Given the description of an element on the screen output the (x, y) to click on. 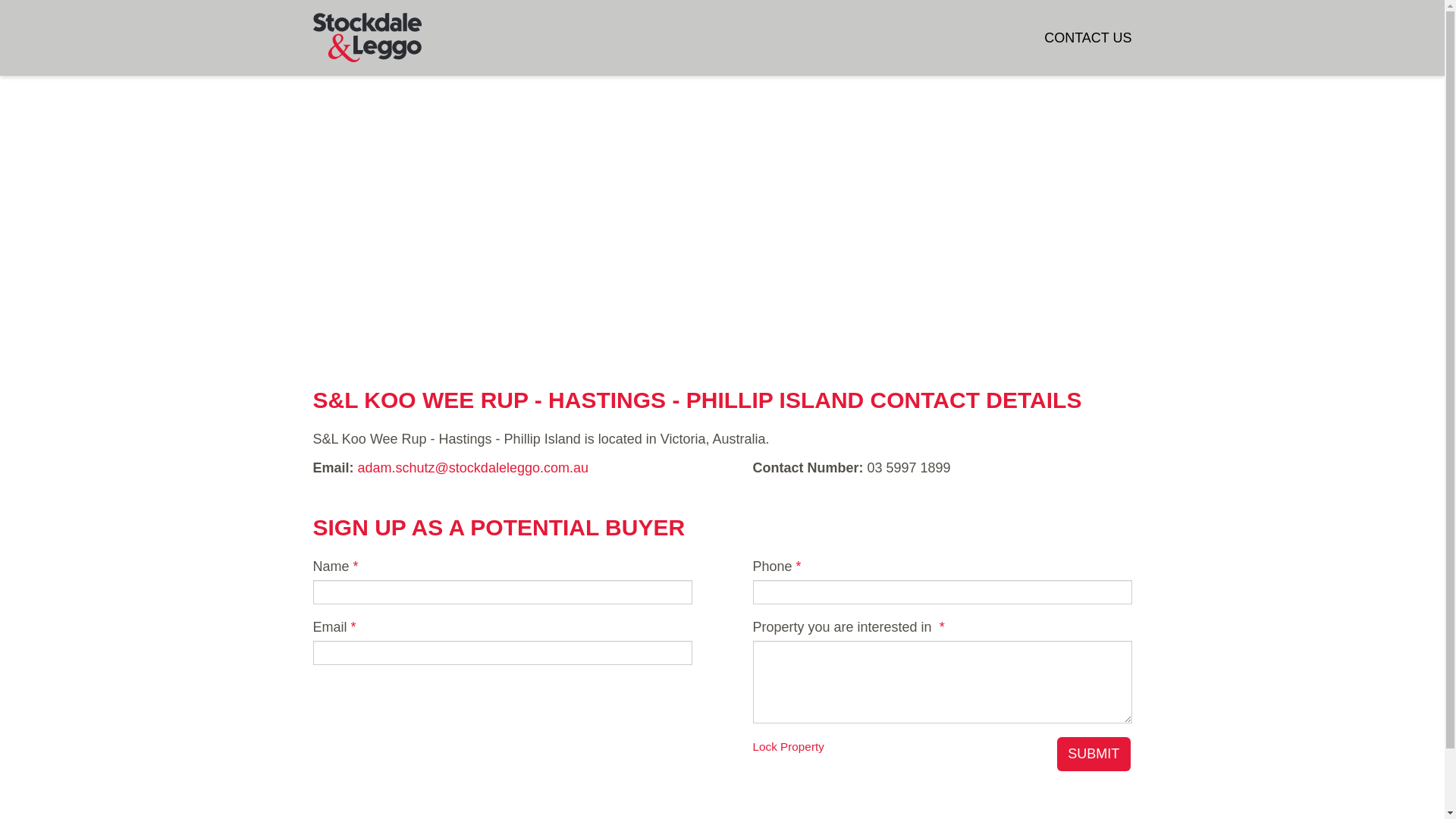
adam.schutz@stockdaleleggo.com.au Element type: text (472, 467)
CONTACT US Element type: text (1087, 38)
Lock Property Element type: text (787, 746)
Submit Element type: text (1093, 754)
